Given the description of an element on the screen output the (x, y) to click on. 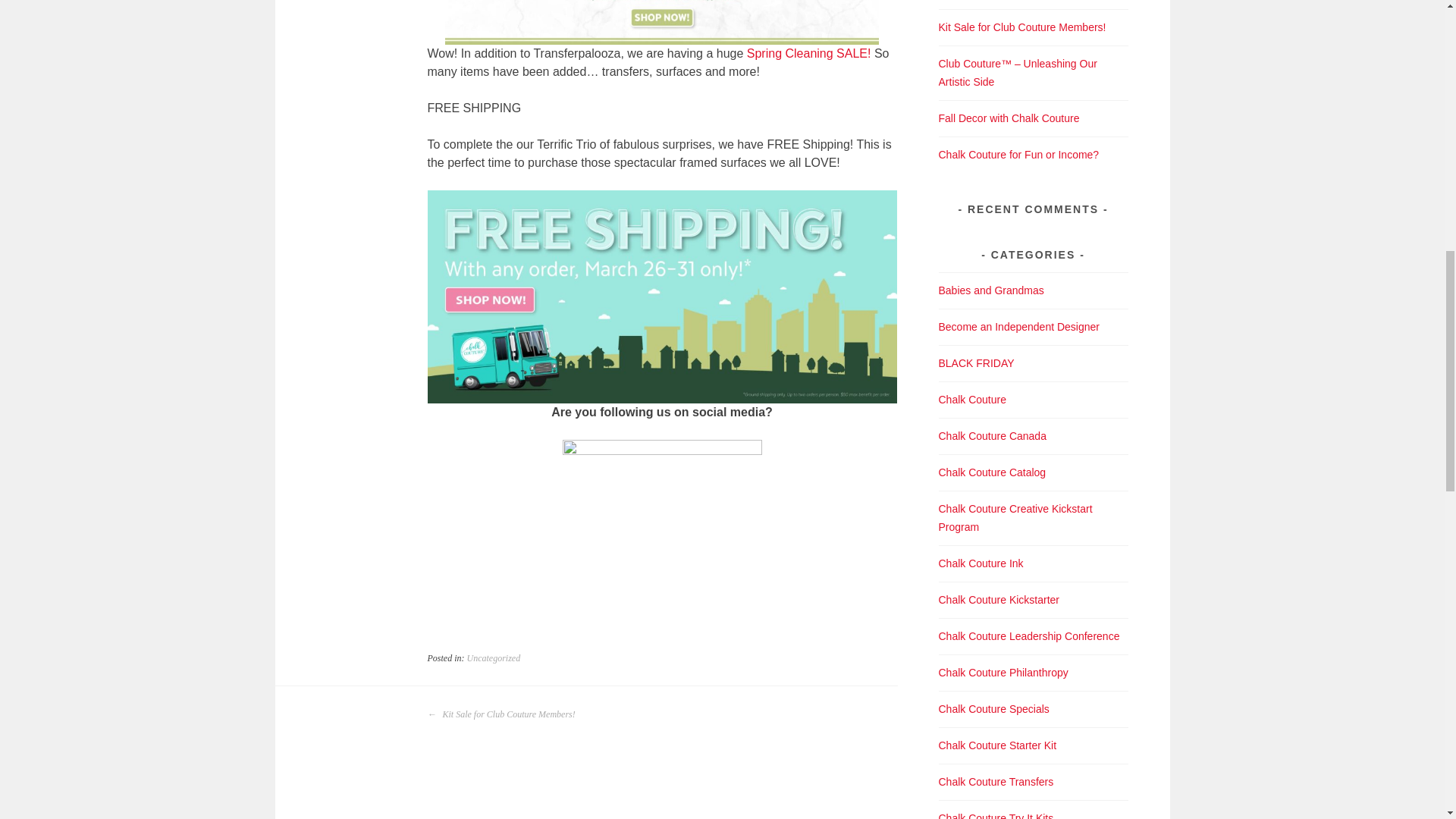
BLACK FRIDAY (976, 363)
Chalk Couture Philanthropy (1003, 672)
Babies and Grandmas (991, 290)
Fall Decor with Chalk Couture (1009, 118)
Chalk Couture (973, 399)
Kit Sale for Club Couture Members! (1022, 27)
Chalk Couture Creative Kickstart Program (1016, 517)
Spring Cleaning SALE! (810, 52)
Chalk Couture Kickstarter (999, 599)
Chalk Couture Leadership Conference (1029, 635)
Chalk Couture Ink (981, 563)
Chalk Couture Transfers (996, 781)
Uncategorized (494, 657)
Chalk Couture Try It Kits (996, 815)
Chalk Couture Canada (992, 435)
